Given the description of an element on the screen output the (x, y) to click on. 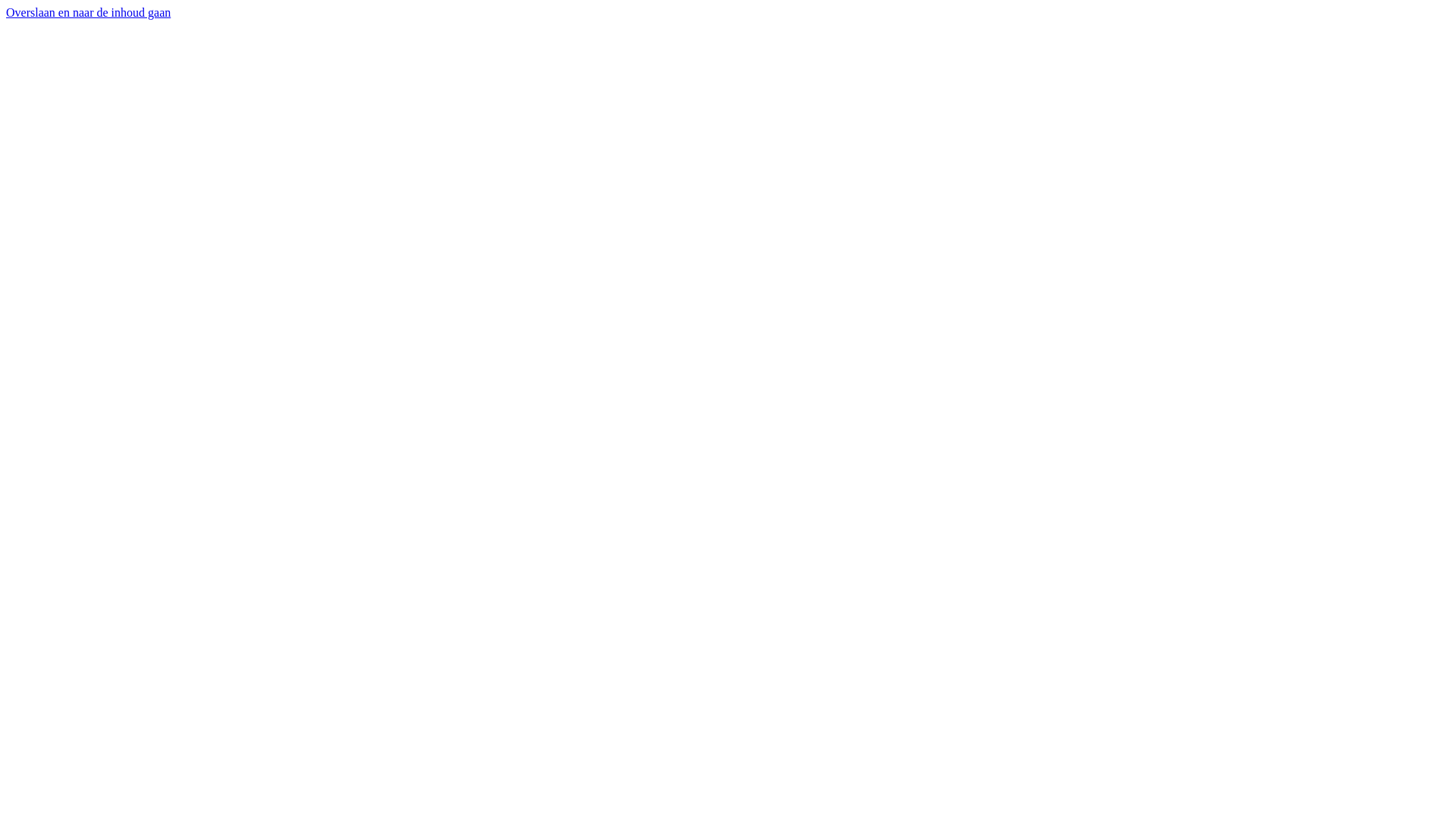
Overslaan en naar de inhoud gaan Element type: text (88, 12)
